Given the description of an element on the screen output the (x, y) to click on. 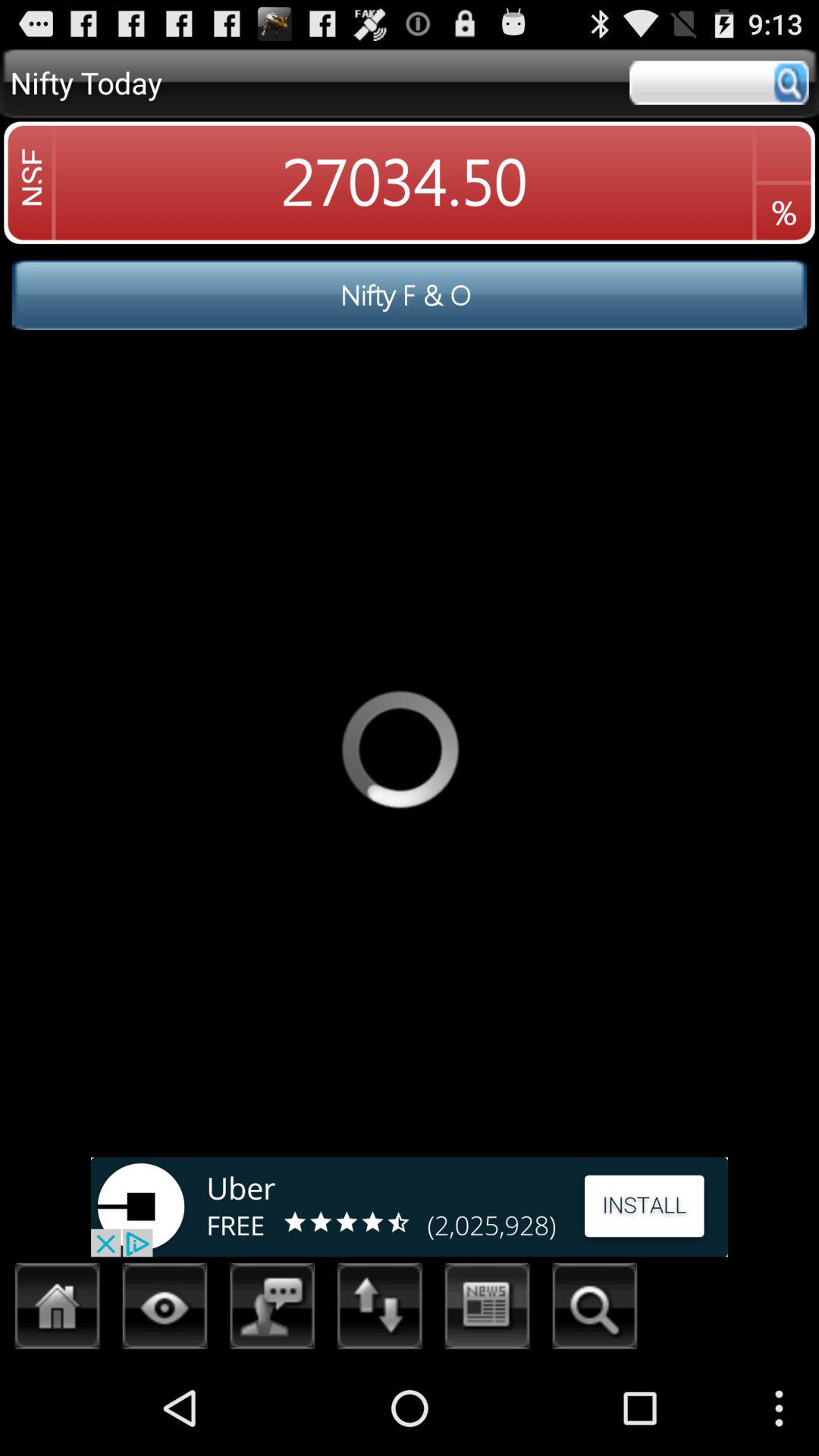
cloud upload download option (379, 1310)
